Given the description of an element on the screen output the (x, y) to click on. 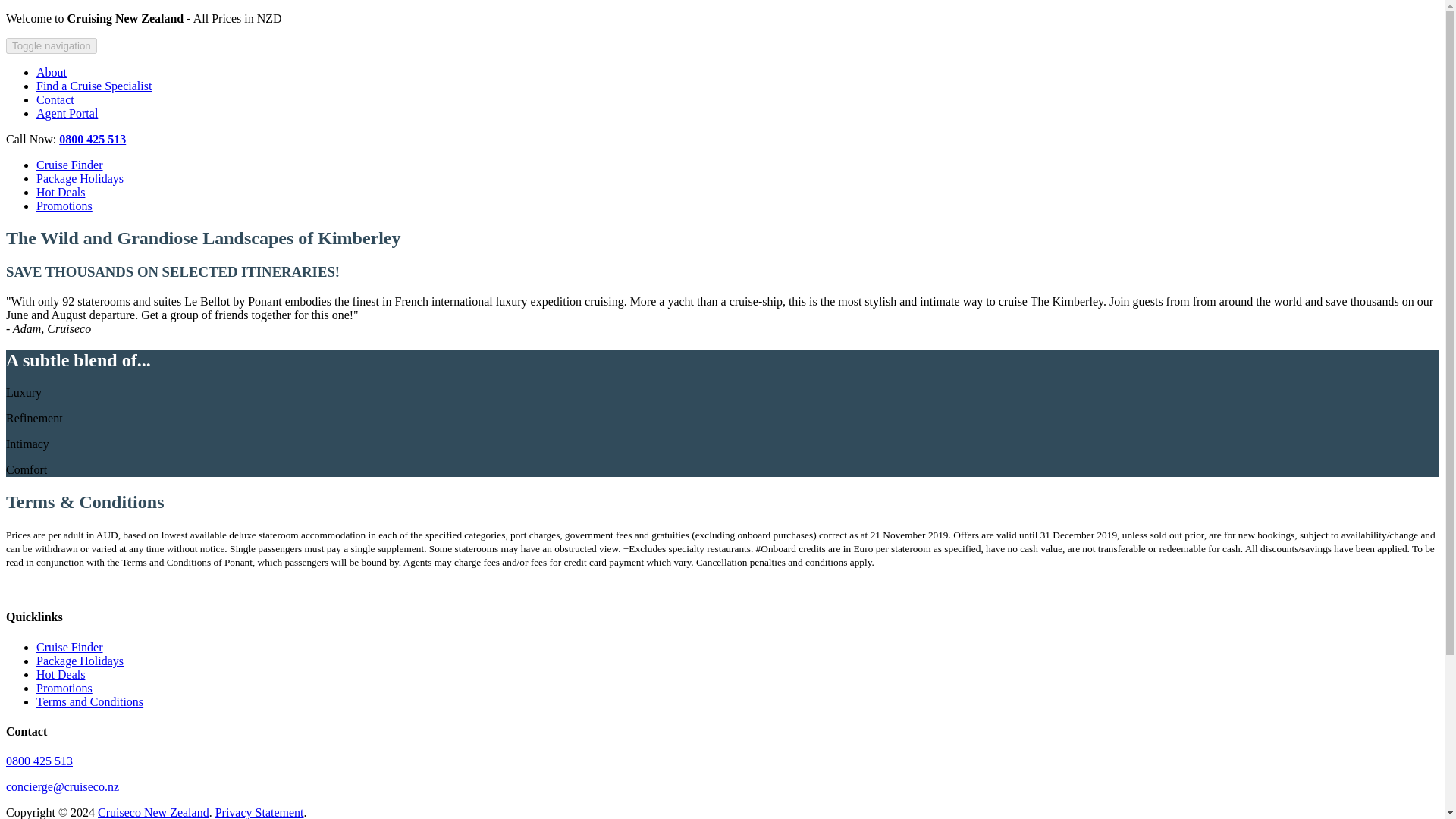
Promotions (64, 687)
Cruise Finder (69, 646)
Toggle navigation (51, 45)
Cruise Finder (69, 164)
Cruiseco New Zealand (153, 812)
Privacy Statement (259, 812)
0800 425 513 (92, 138)
About (51, 72)
0800 425 513 (38, 760)
Hot Deals (60, 674)
